Given the description of an element on the screen output the (x, y) to click on. 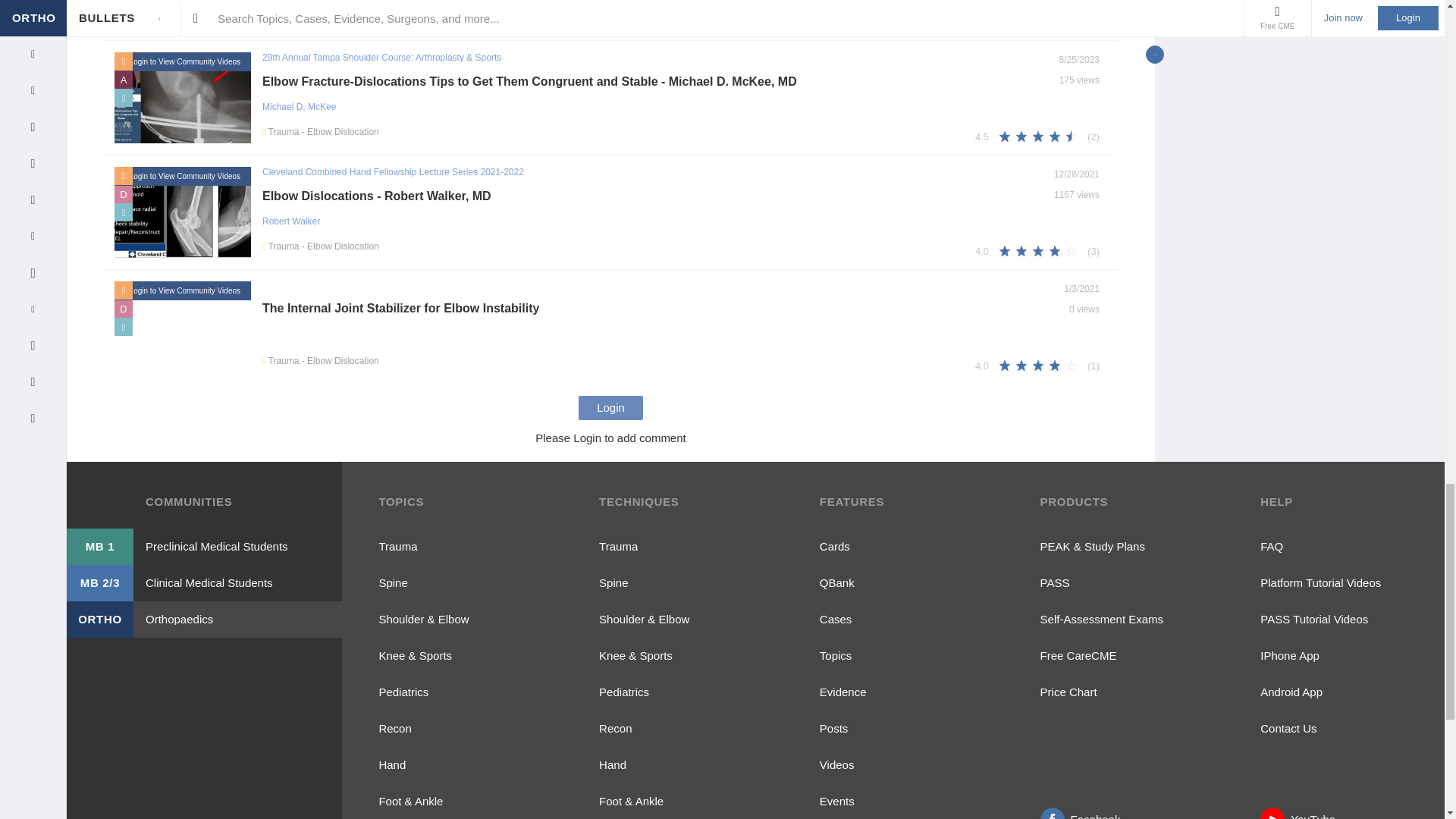
Votes (1091, 135)
Average Star Rating (983, 21)
Average Star Rating (983, 136)
Tested (123, 308)
Votes (1091, 250)
Tested (123, 194)
Critical (123, 79)
Average Star Rating (983, 250)
Votes (1091, 21)
